Given the description of an element on the screen output the (x, y) to click on. 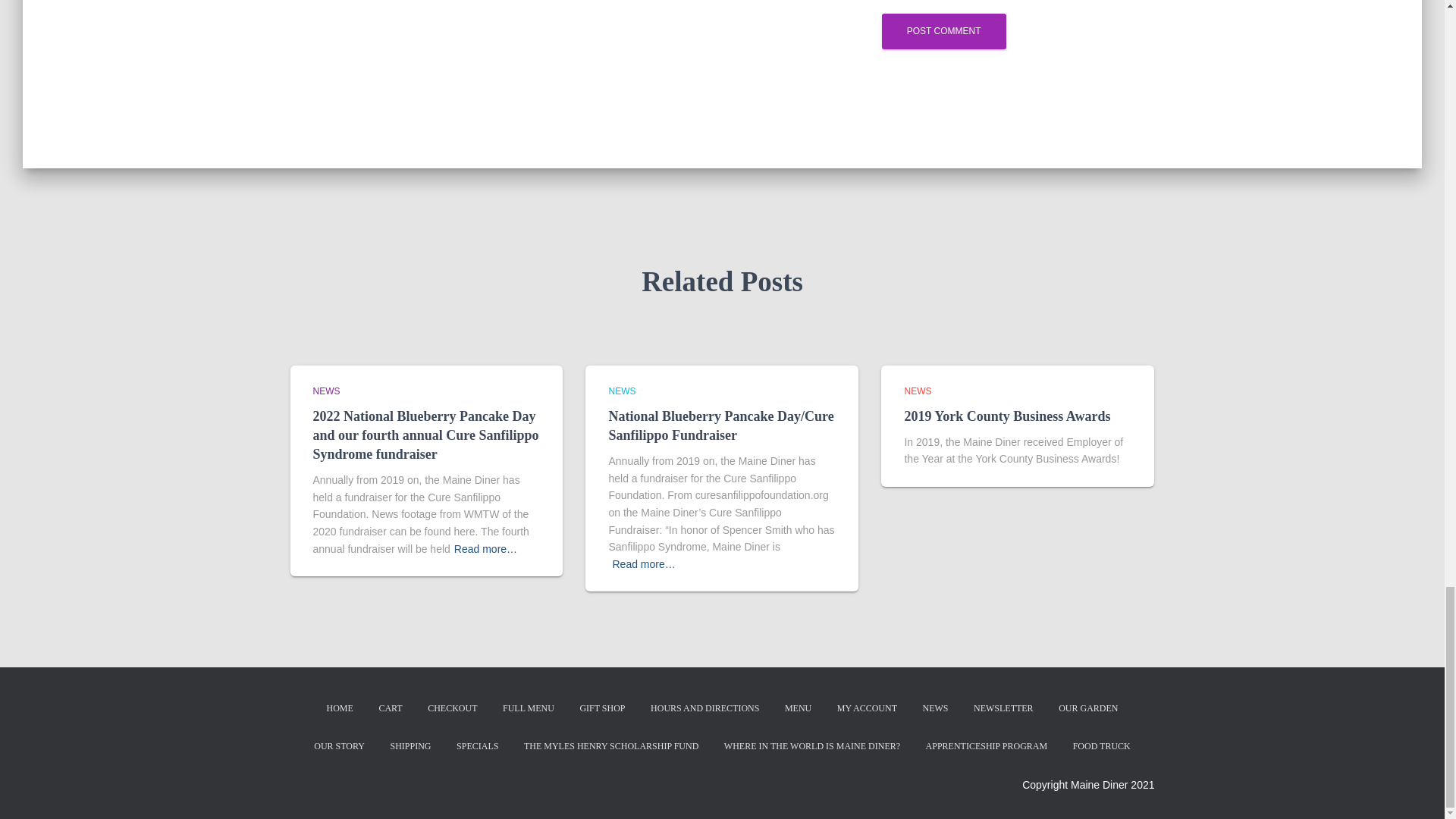
View all posts in News (326, 390)
NEWSLETTER (1003, 708)
OUR GARDEN (1087, 708)
2019 York County Business Awards (1006, 416)
HOURS AND DIRECTIONS (704, 708)
FULL MENU (529, 708)
MENU (797, 708)
OUR STORY (338, 746)
Post Comment (944, 31)
CHECKOUT (451, 708)
CART (389, 708)
NEWS (917, 390)
NEWS (621, 390)
NEWS (935, 708)
